Given the description of an element on the screen output the (x, y) to click on. 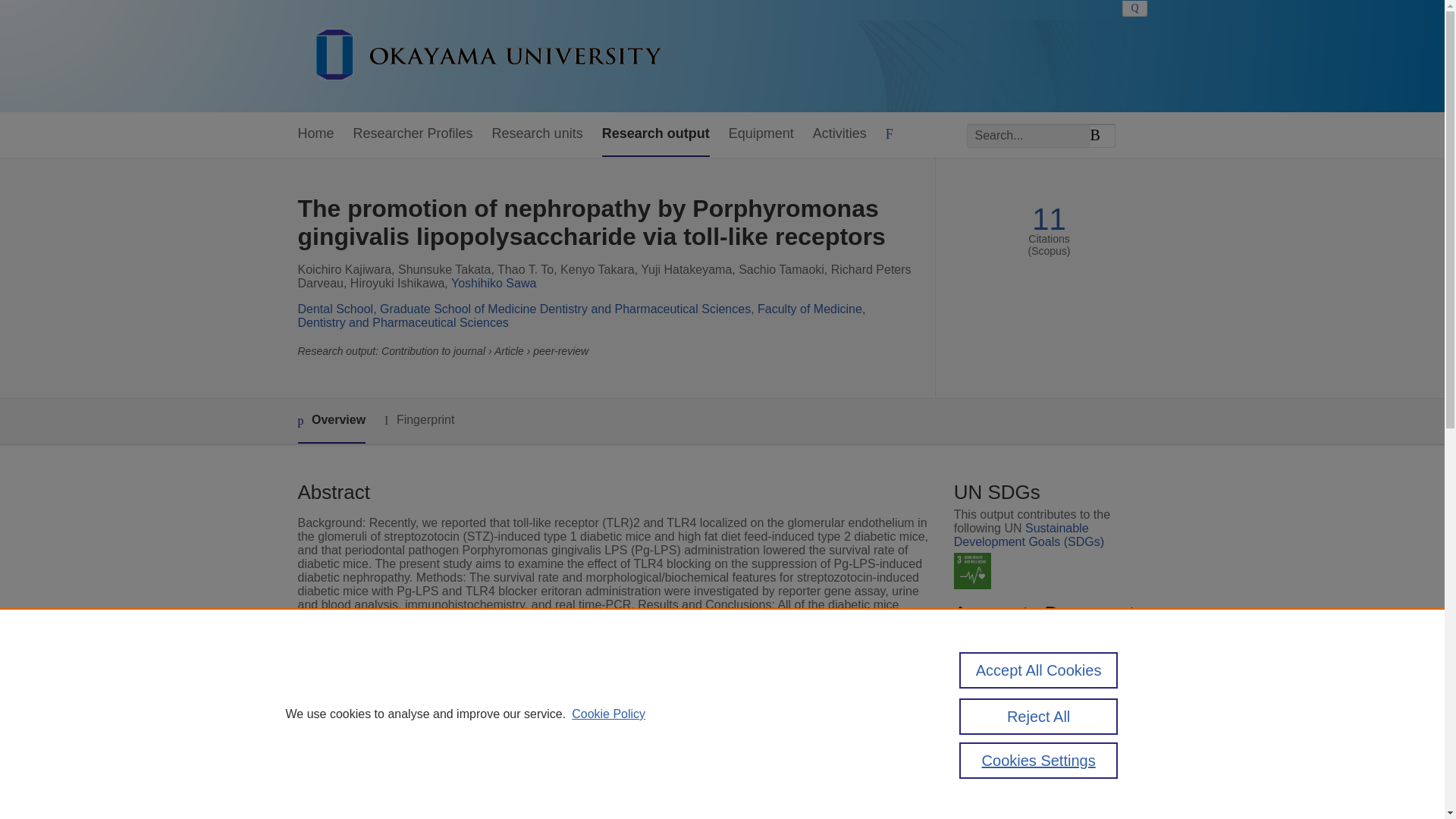
Yoshihiko Sawa (493, 282)
Diabetology and Metabolic Syndrome (608, 813)
Equipment (761, 134)
Dental School (334, 308)
Okayama University Home (487, 55)
11 (1048, 219)
Link to publication in Scopus (1045, 695)
Research output (656, 134)
Overview (331, 420)
